Given the description of an element on the screen output the (x, y) to click on. 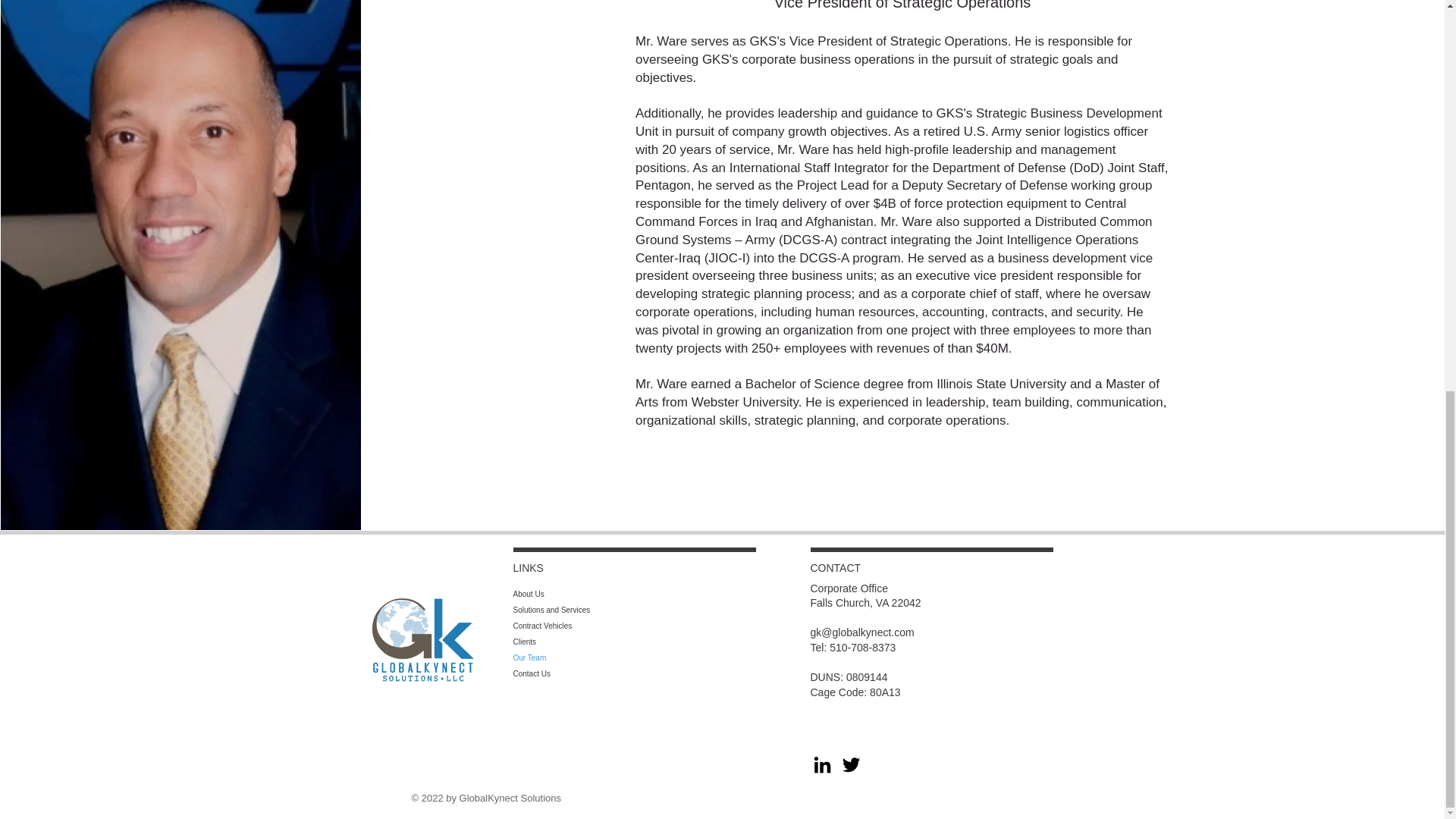
Clients (570, 641)
Contact Us (570, 673)
About Us (570, 593)
Solutions and Services (570, 609)
Contract Vehicles (570, 625)
Our Team (570, 657)
